Given the description of an element on the screen output the (x, y) to click on. 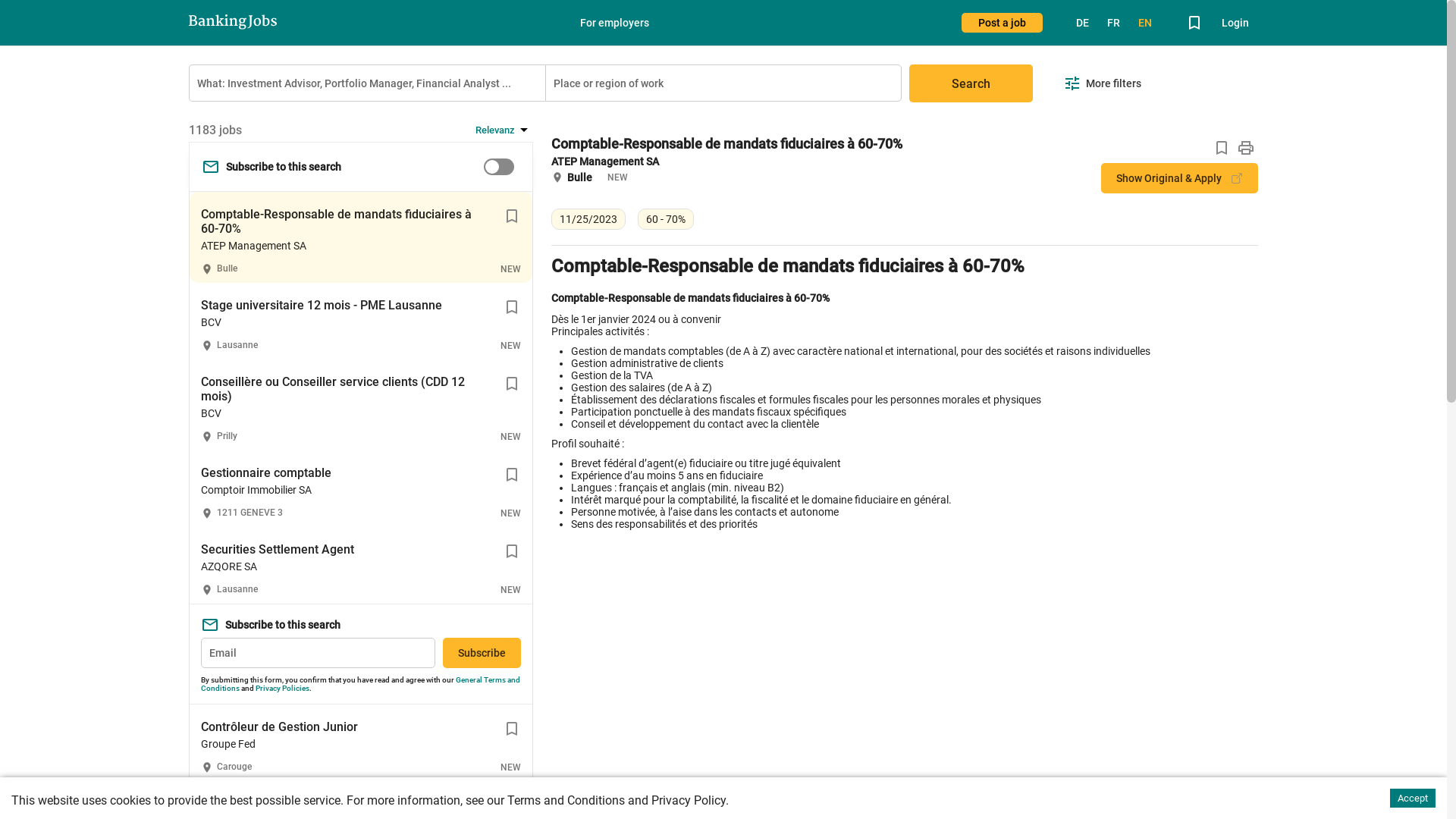
Terms and Conditions Element type: text (565, 800)
Stage universitaire 12 mois - PME Lausanne Element type: text (321, 305)
General Terms and Conditions Element type: text (360, 683)
Gestionnaire comptable Element type: text (265, 472)
Subscribe Element type: text (481, 652)
Privacy Policy Element type: text (688, 800)
Search Element type: text (970, 83)
FR Element type: text (1113, 22)
For employers Element type: text (614, 22)
Bookmarks Element type: hover (1194, 22)
Relevanz Element type: text (504, 129)
Privacy Policies Element type: text (282, 688)
Jurist (m/w/d), unbefristet Element type: text (272, 803)
ATEP Management SA Element type: text (604, 161)
Login Element type: text (1234, 22)
Accept Element type: text (1412, 797)
Show Original & Apply Element type: text (1179, 178)
Securities Settlement Agent Element type: text (277, 549)
More filters Element type: text (1102, 83)
DE Element type: text (1082, 22)
EN Element type: text (1144, 22)
Post a job Element type: text (1001, 22)
